Given the description of an element on the screen output the (x, y) to click on. 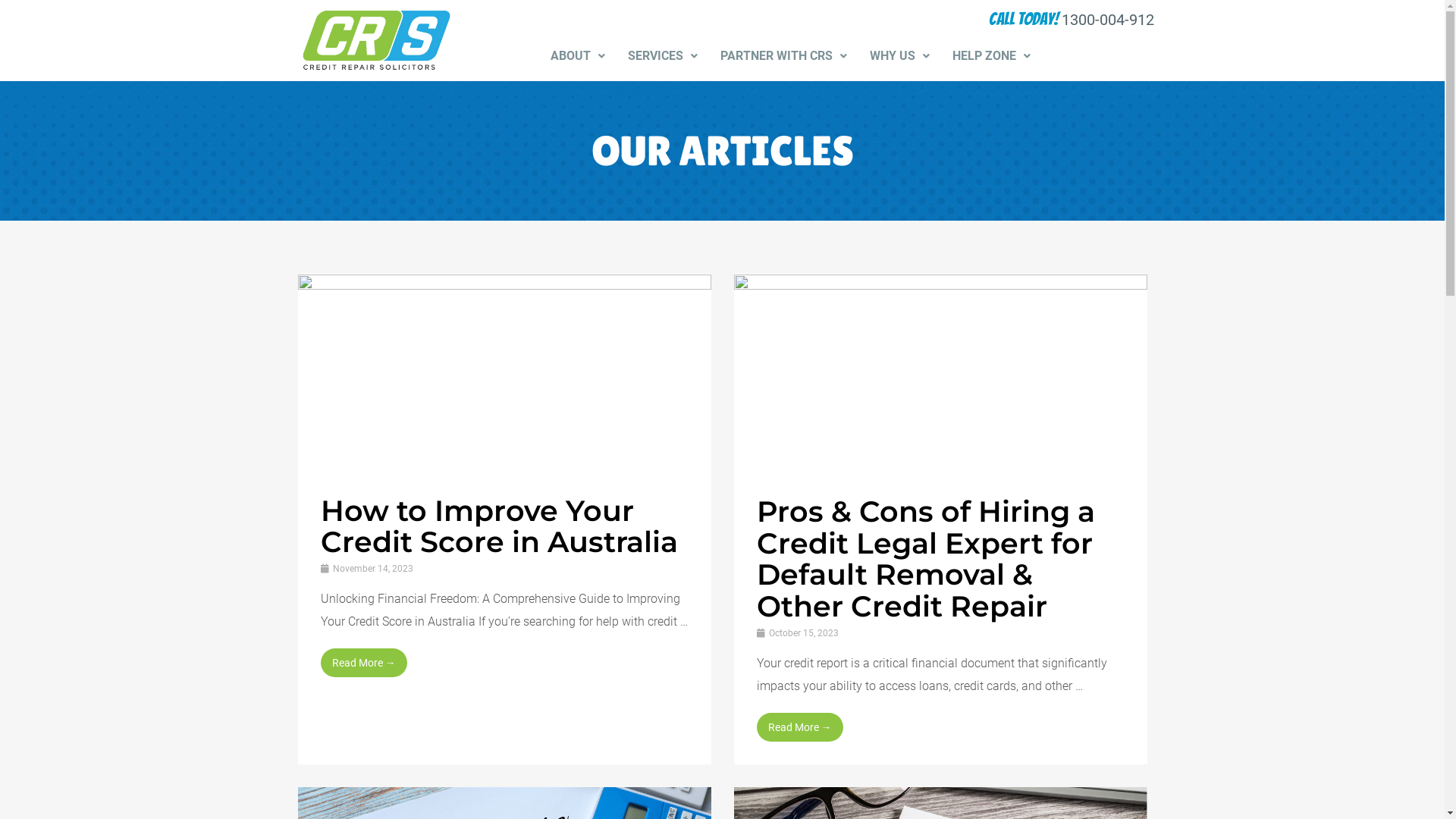
SERVICES Element type: text (662, 55)
Call Today! 1300-004-912 Element type: text (1071, 19)
HELP ZONE Element type: text (991, 55)
PARTNER WITH CRS Element type: text (783, 55)
ABOUT Element type: text (577, 55)
WHY US Element type: text (899, 55)
How to Improve Your Credit Score in Australia Element type: hover (503, 371)
GET STARTED! Element type: text (1097, 56)
How to Improve Your Credit Score in Australia Element type: text (498, 526)
